Given the description of an element on the screen output the (x, y) to click on. 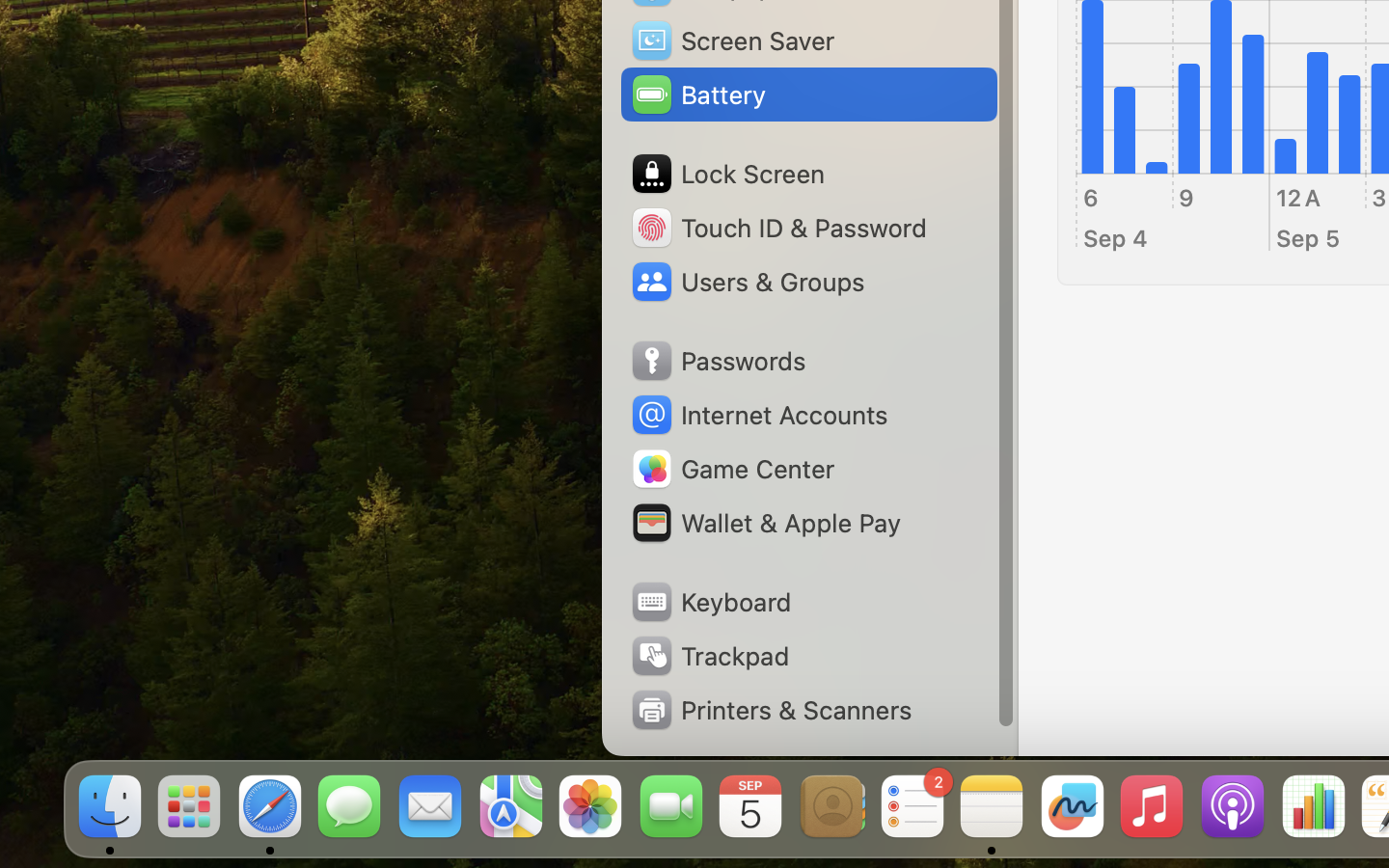
Screen Saver Element type: AXStaticText (731, 40)
Touch ID & Password Element type: AXStaticText (777, 227)
